Given the description of an element on the screen output the (x, y) to click on. 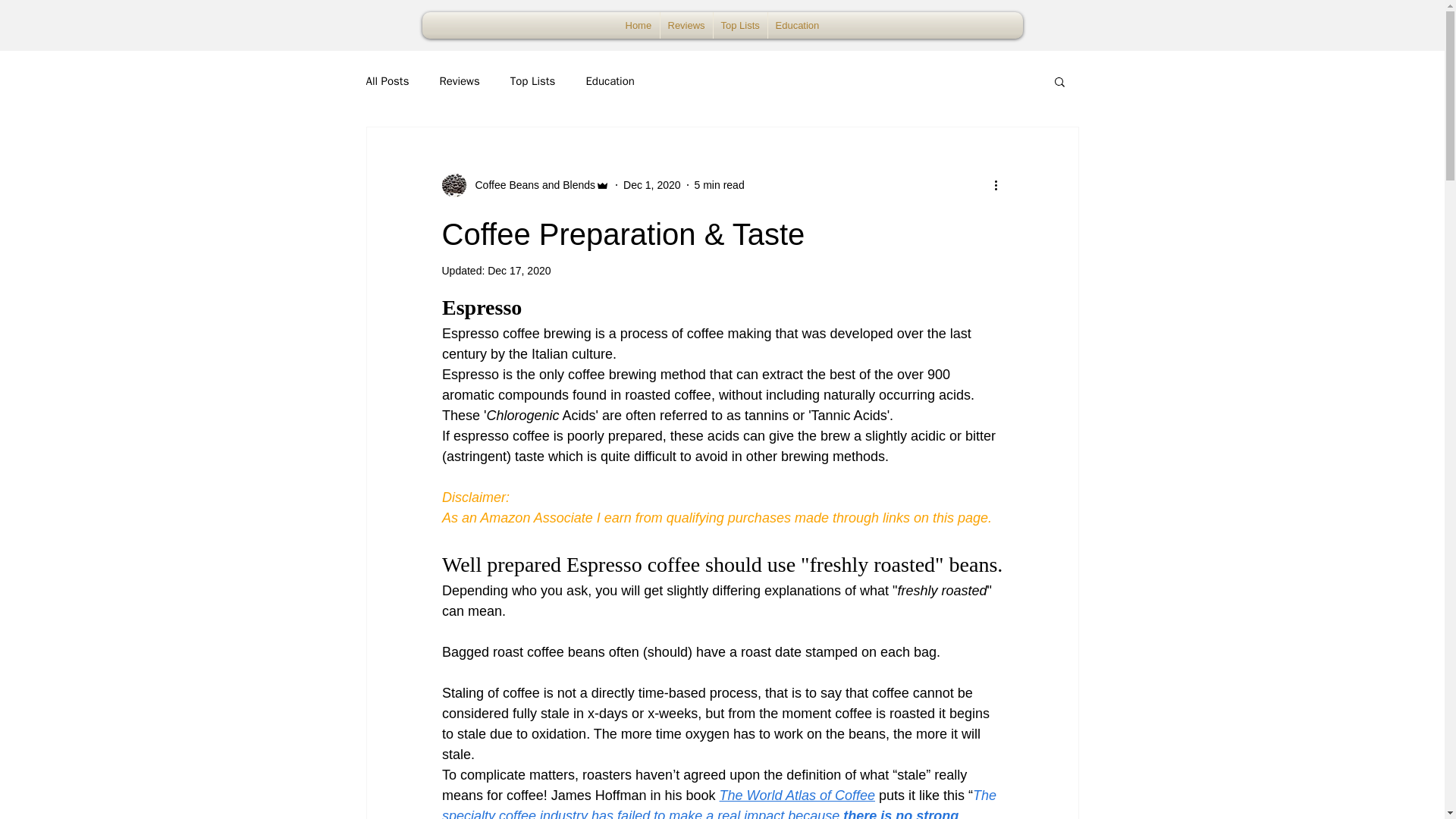
5 min read (719, 184)
The World Atlas of Coffee (797, 795)
Dec 17, 2020 (518, 270)
Dec 1, 2020 (652, 184)
Reviews (685, 25)
Education (609, 81)
Top Lists (740, 25)
Top Lists (533, 81)
Coffee Beans and Blends (530, 185)
All Posts (387, 81)
Education (797, 25)
Reviews (459, 81)
Home (638, 25)
